Given the description of an element on the screen output the (x, y) to click on. 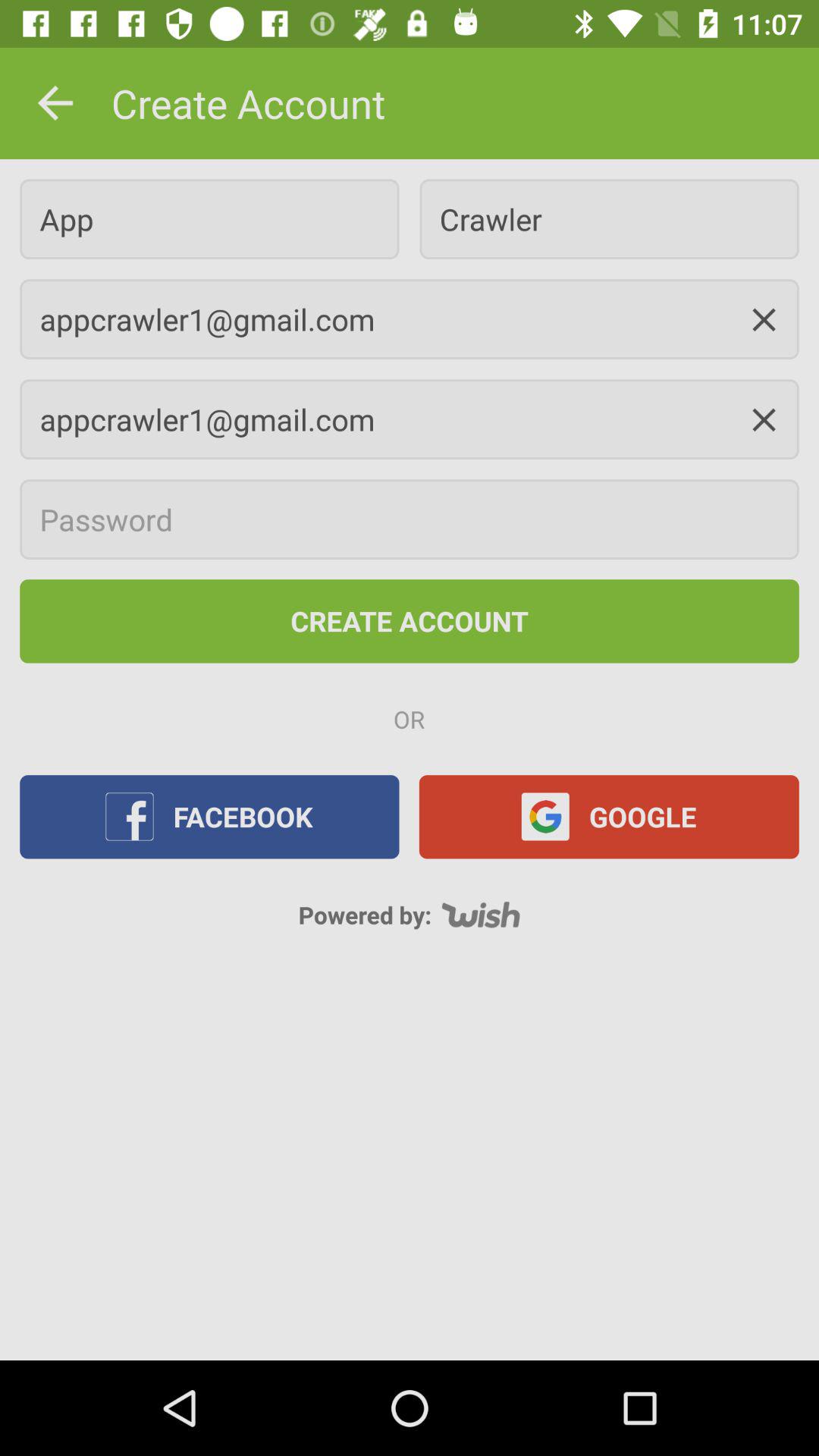
enter password (409, 519)
